Given the description of an element on the screen output the (x, y) to click on. 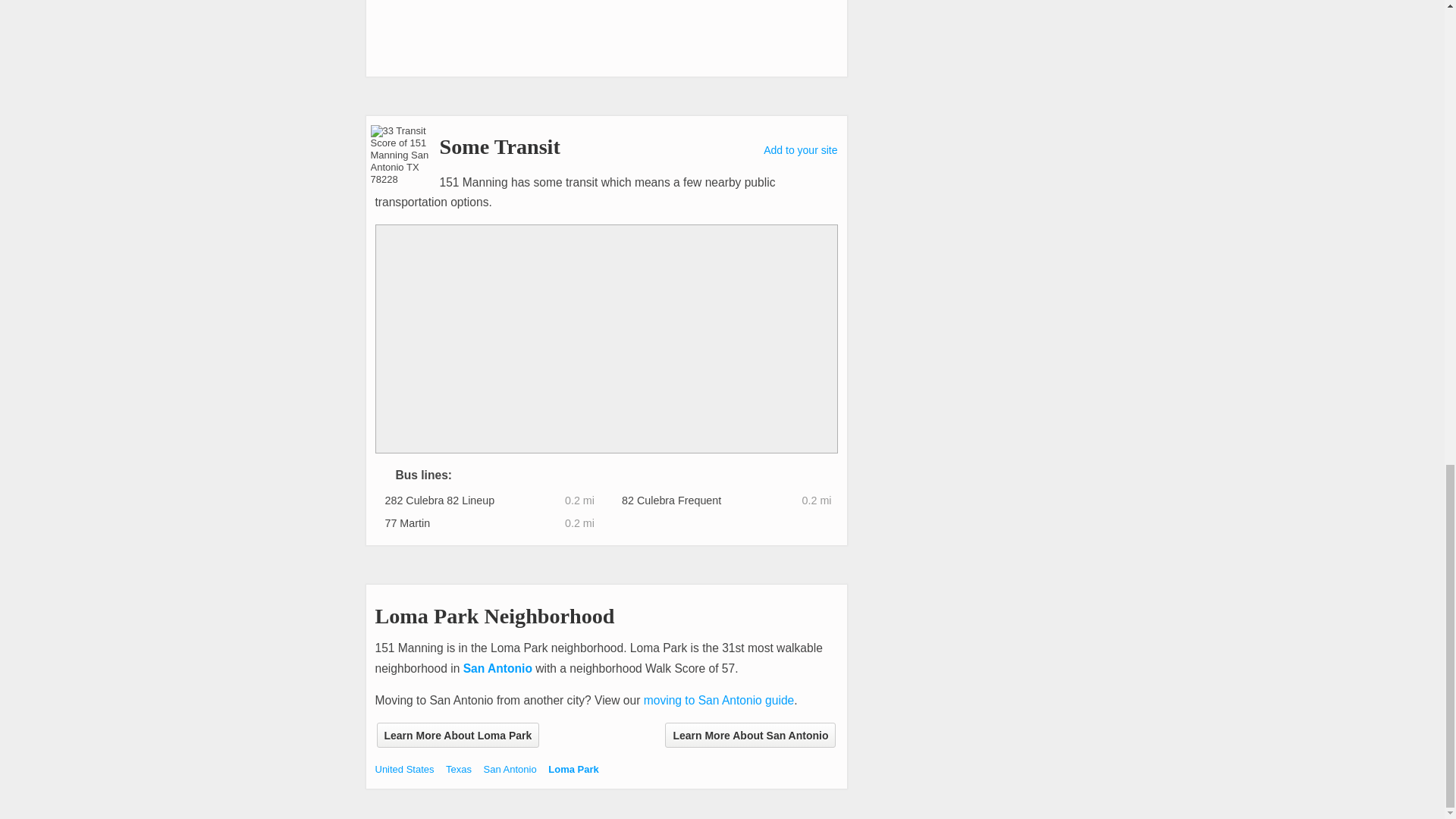
San Antonio (497, 667)
Learn More About San Antonio (750, 734)
Cities in Texas state (458, 768)
Learn More About Loma Park (456, 734)
moving to San Antonio guide (718, 699)
Add to your site (799, 150)
United States Walkability Rankings (403, 768)
United States (403, 768)
